Given the description of an element on the screen output the (x, y) to click on. 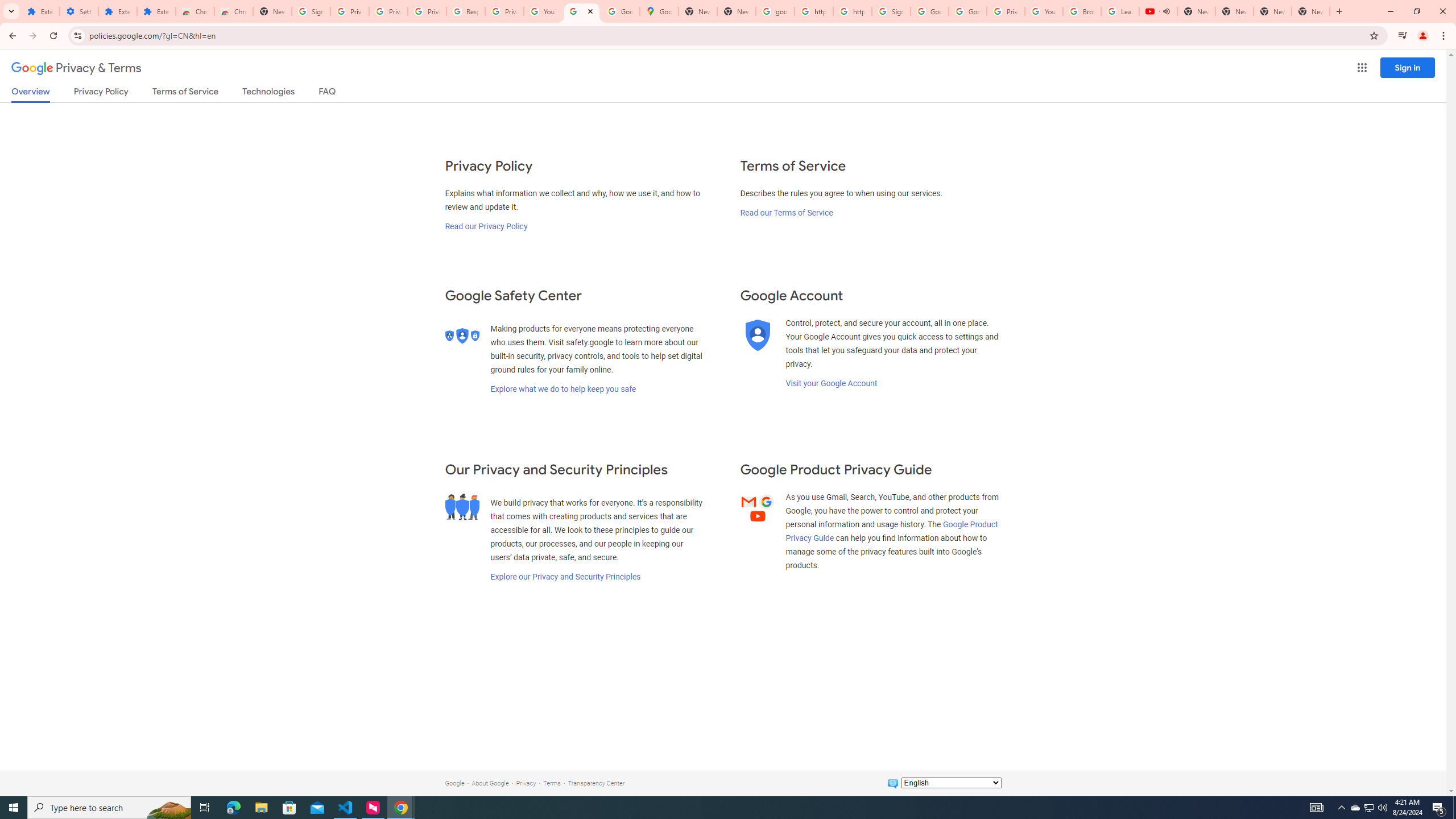
https://scholar.google.com/ (813, 11)
Transparency Center (595, 783)
Sign in - Google Accounts (890, 11)
Privacy & Terms (76, 68)
Control your music, videos, and more (1402, 35)
Read our Privacy Policy (485, 226)
Chrome Web Store - Themes (233, 11)
Google Maps (659, 11)
About Google (490, 783)
Extensions (117, 11)
